Given the description of an element on the screen output the (x, y) to click on. 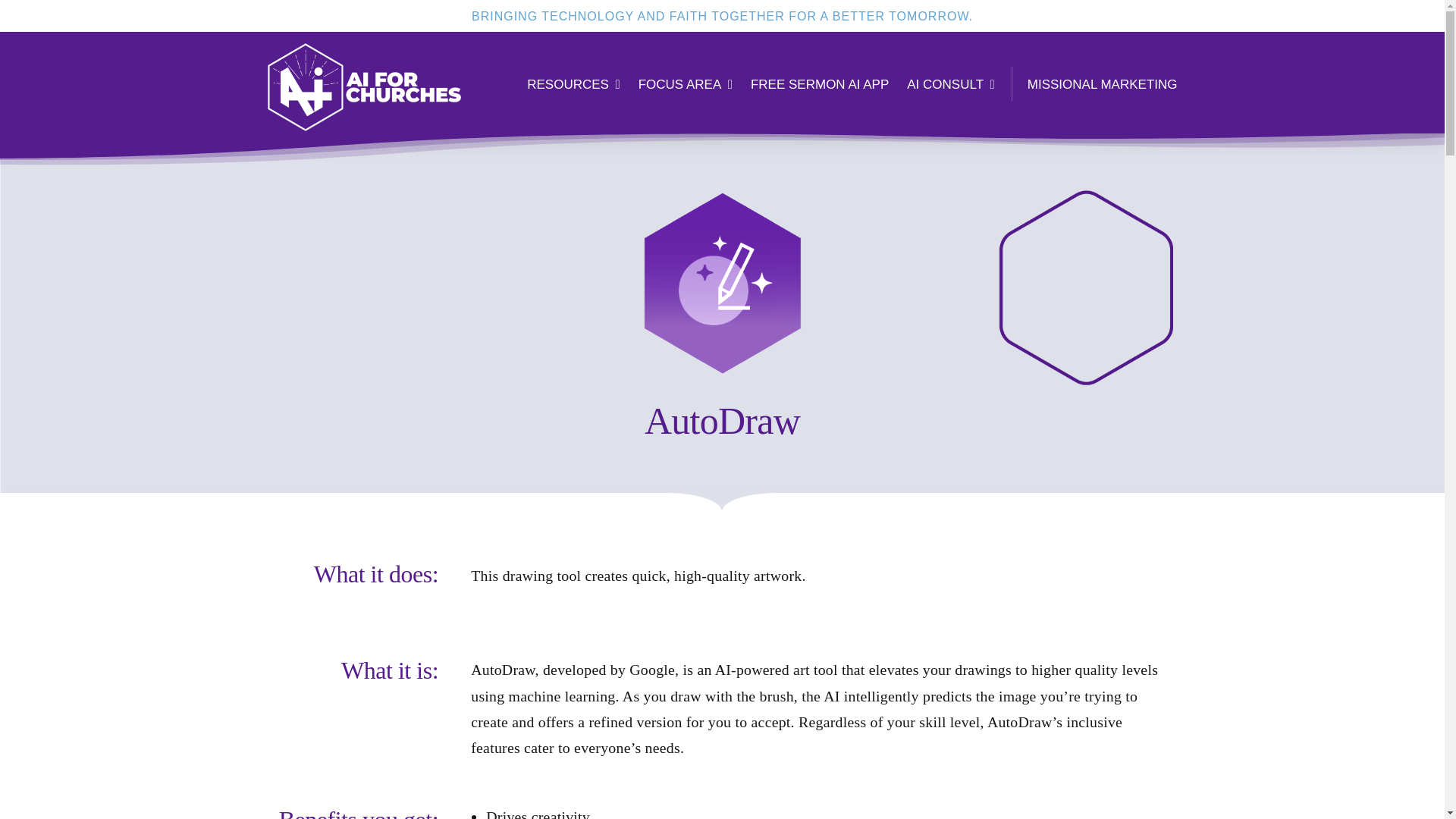
FOCUS AREA (685, 81)
RESOURCES (573, 81)
FREE SERMON AI APP (819, 81)
AI CONSULT (950, 81)
MISSIONAL MARKETING (1102, 81)
